Given the description of an element on the screen output the (x, y) to click on. 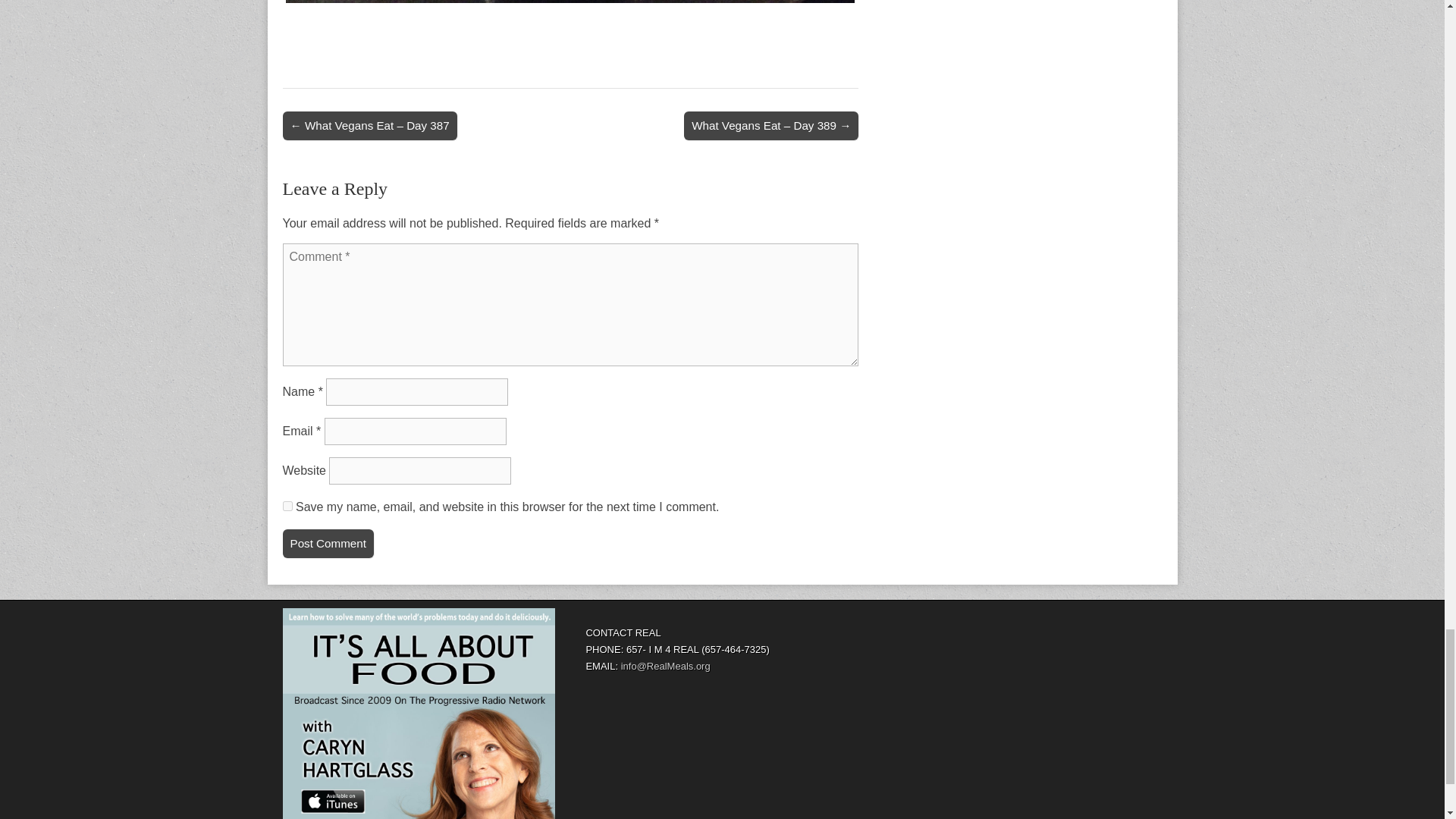
Post Comment (327, 543)
yes (287, 506)
Listen on Itunes (418, 713)
